Given the description of an element on the screen output the (x, y) to click on. 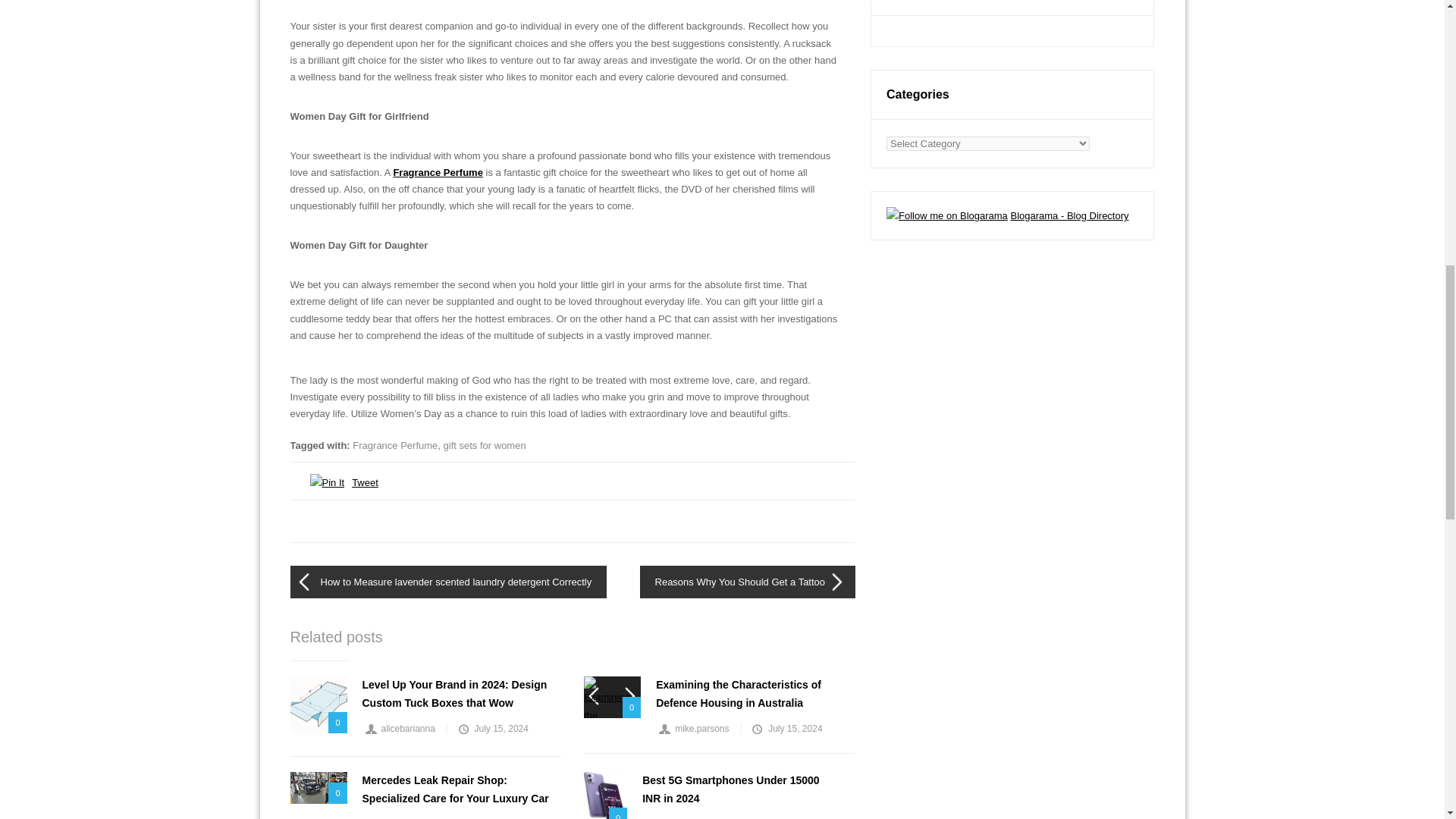
Pin It (325, 482)
10:00 am (491, 728)
